Given the description of an element on the screen output the (x, y) to click on. 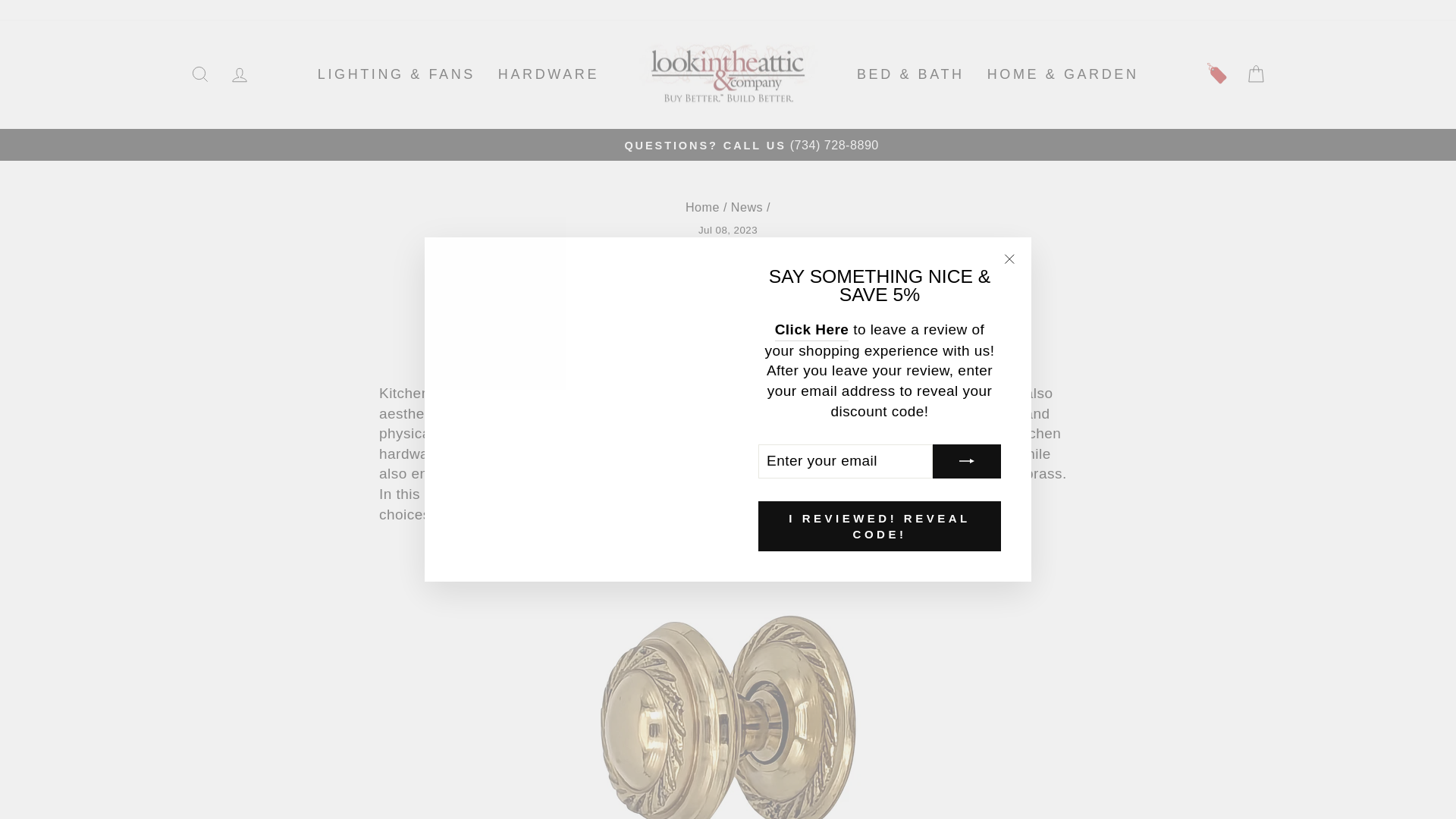
Back to the frontpage (702, 206)
